Given the description of an element on the screen output the (x, y) to click on. 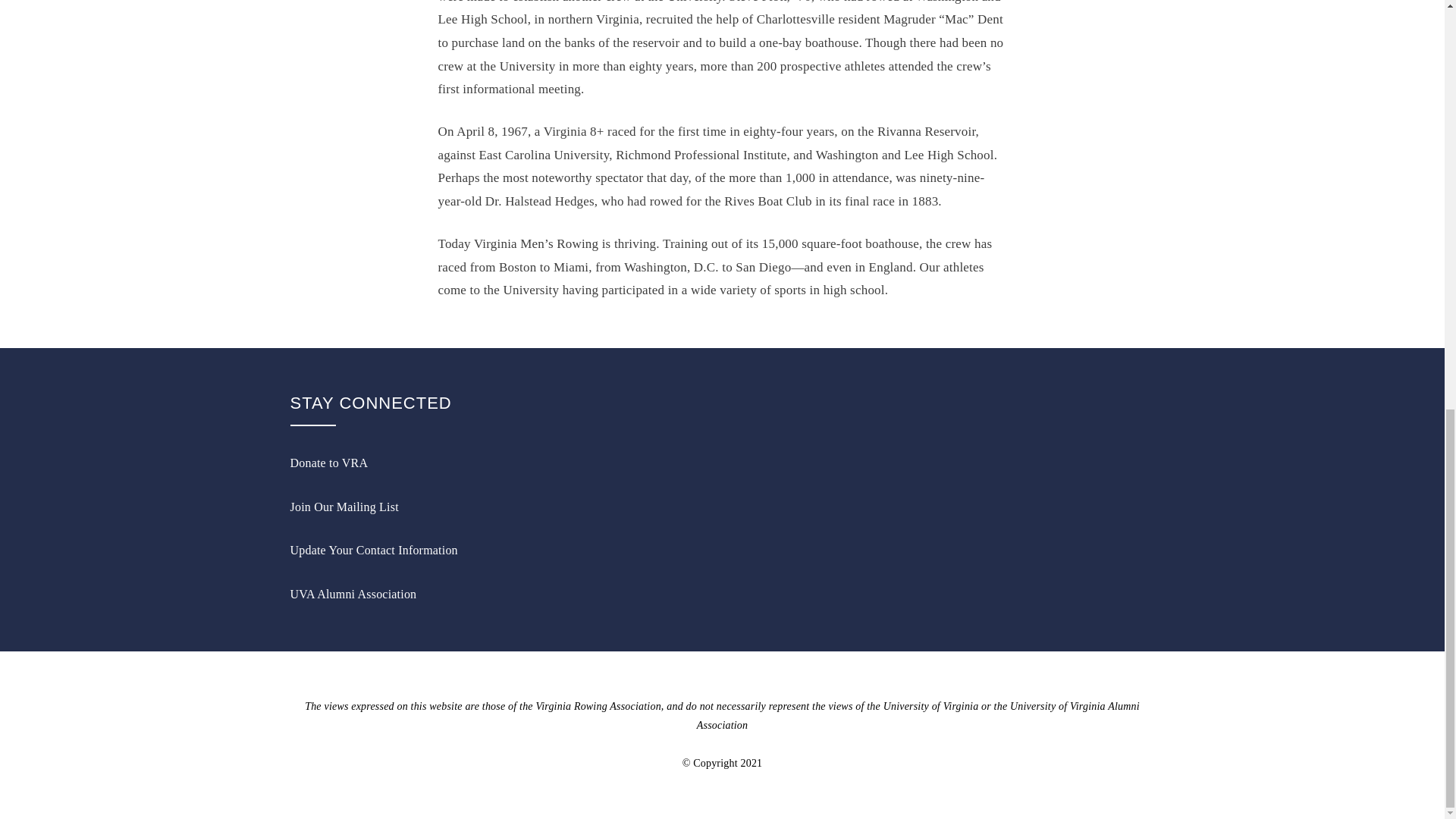
UVA Alumni Association (352, 594)
Join Our Mailing List (343, 506)
Donate to VRA (328, 462)
Update Your Contact Information (373, 549)
Virginia Rowing Association (598, 706)
